Given the description of an element on the screen output the (x, y) to click on. 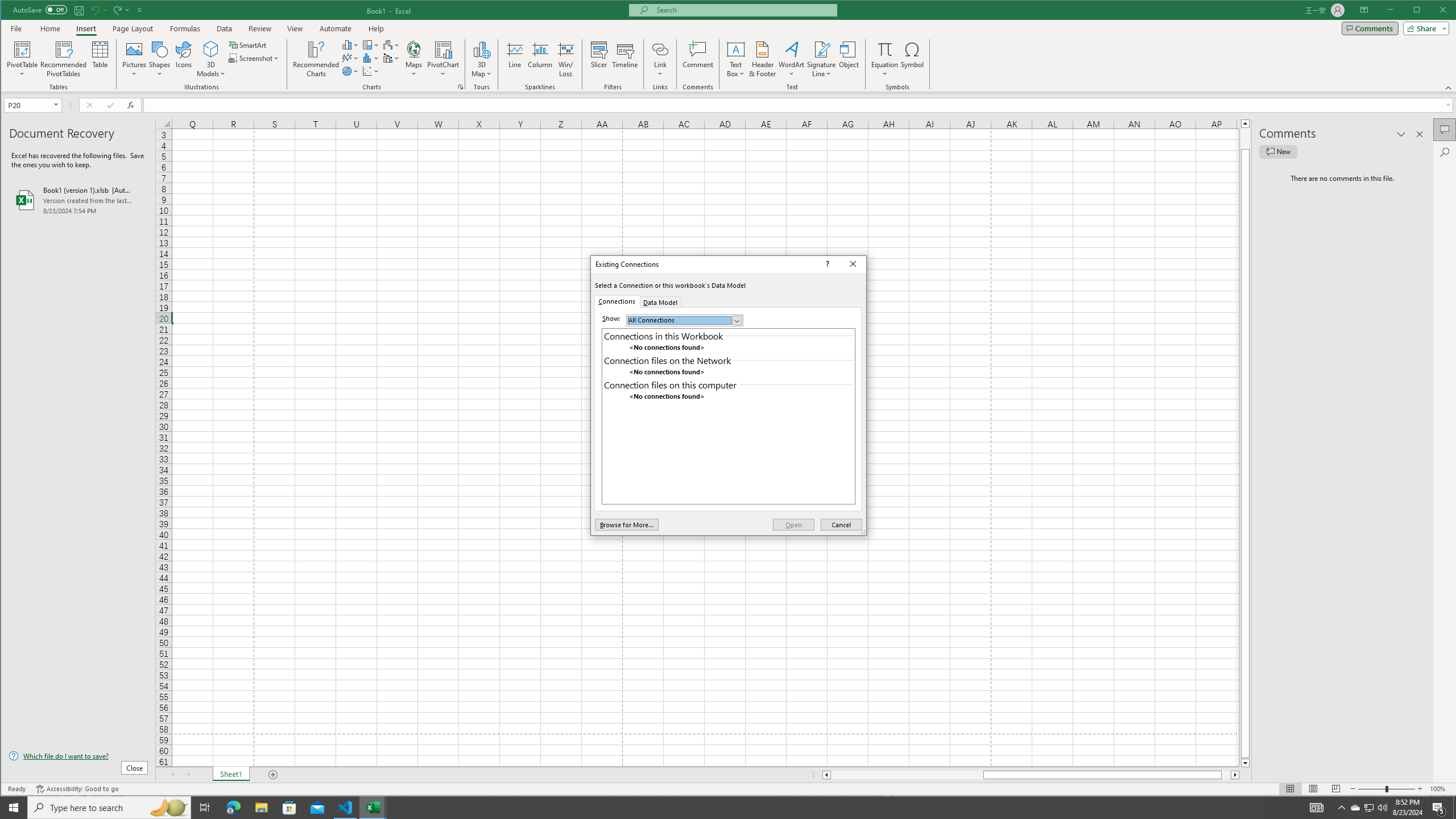
Draw Horizontal Text Box (735, 48)
Action Center, 5 new notifications (1439, 807)
Timeline (625, 59)
Insert Column or Bar Chart (350, 44)
Show (685, 320)
Shapes (159, 59)
